Given the description of an element on the screen output the (x, y) to click on. 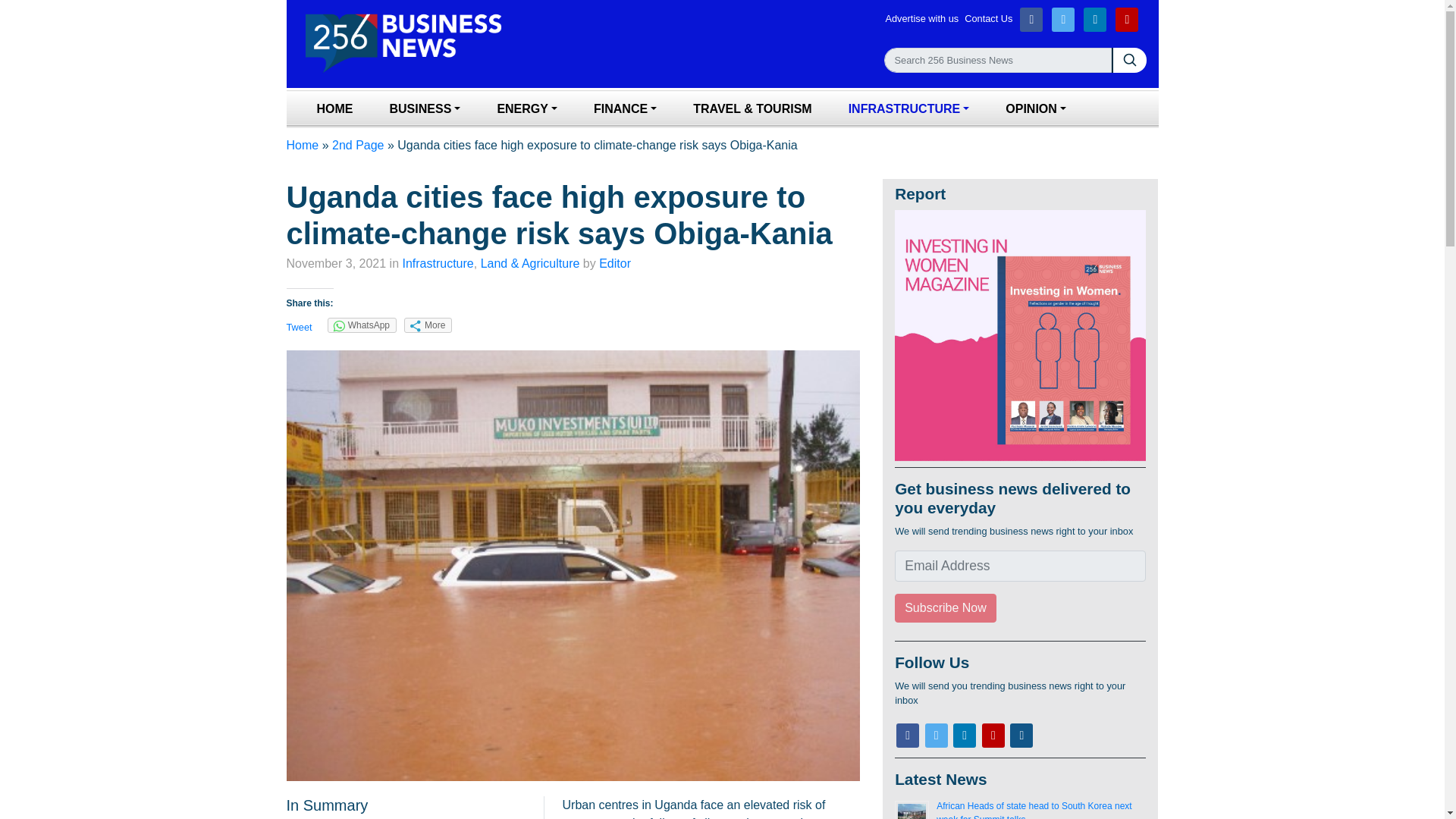
INFRASTRUCTURE (908, 109)
Home (334, 109)
ENERGY (527, 109)
Contact Us (990, 19)
Search (997, 59)
HOME (334, 109)
BUSINESS (425, 109)
Energy (527, 109)
Advertise with us (924, 19)
2nd Page (357, 144)
